Given the description of an element on the screen output the (x, y) to click on. 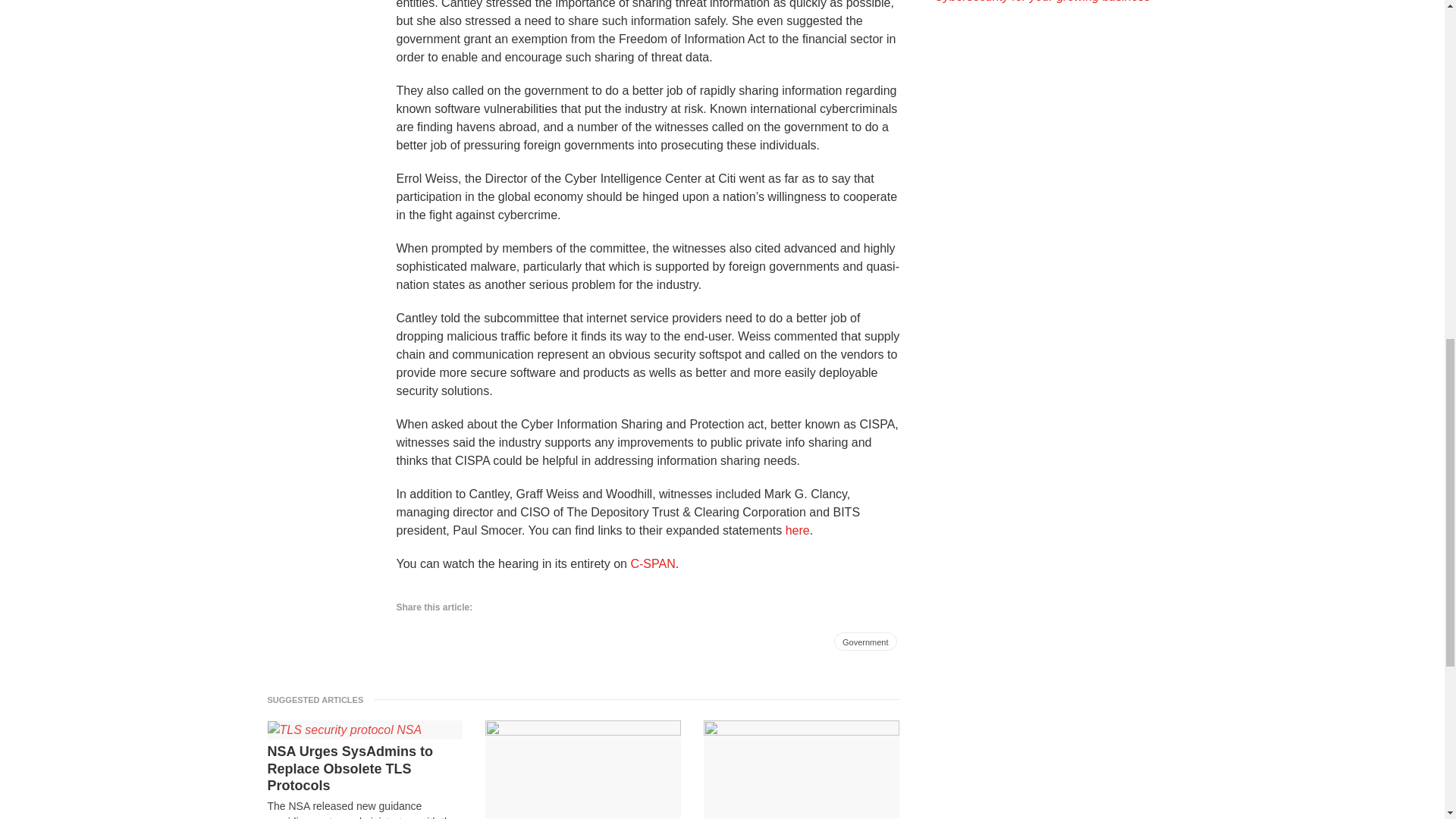
here (797, 529)
Government (865, 641)
NSA Urges SysAdmins to Replace Obsolete TLS Protocols (364, 768)
SUGGESTED ARTICLES (319, 699)
C-SPAN (652, 562)
